Given the description of an element on the screen output the (x, y) to click on. 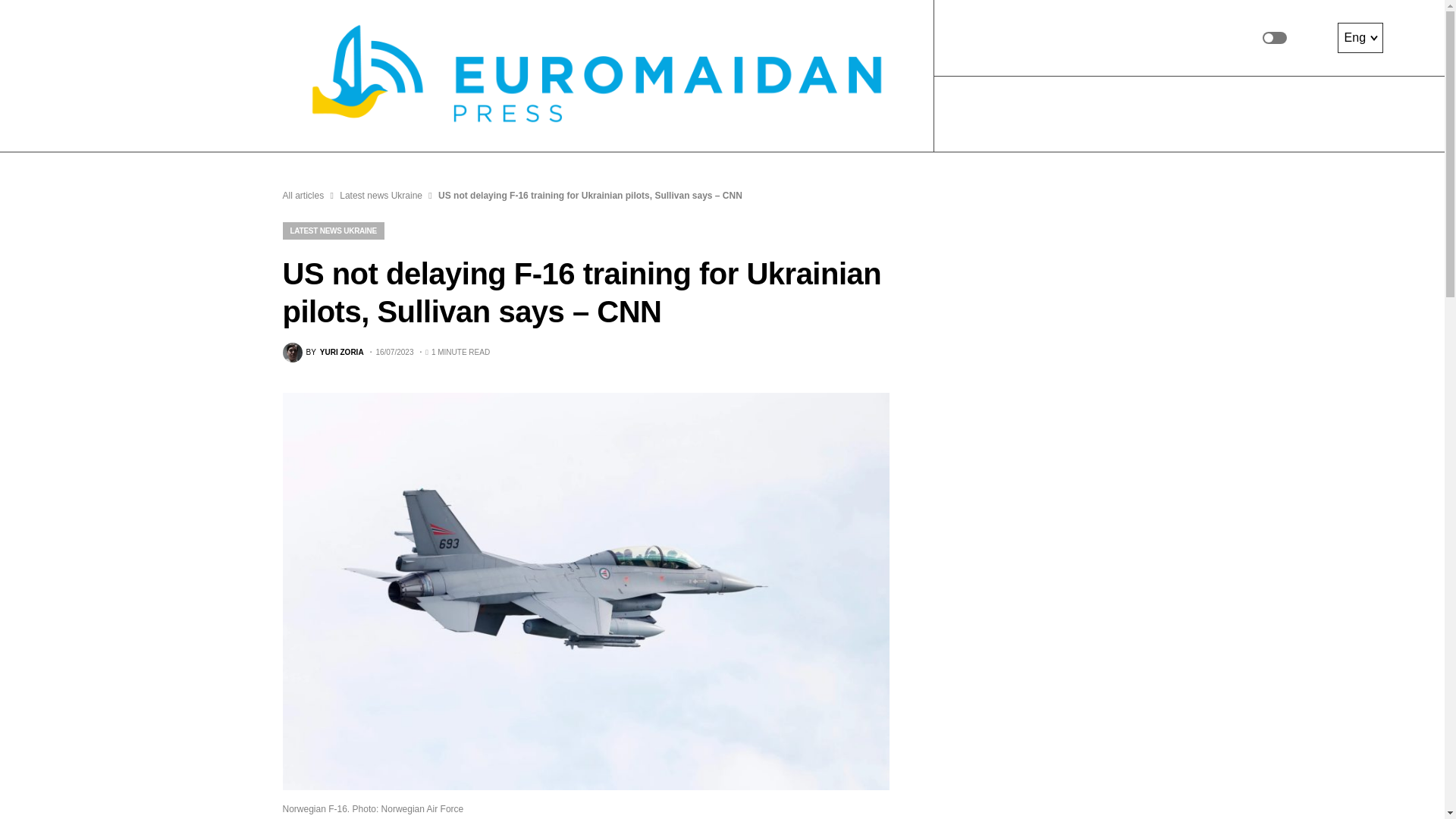
View all posts by Yuri Zoria (322, 352)
